Given the description of an element on the screen output the (x, y) to click on. 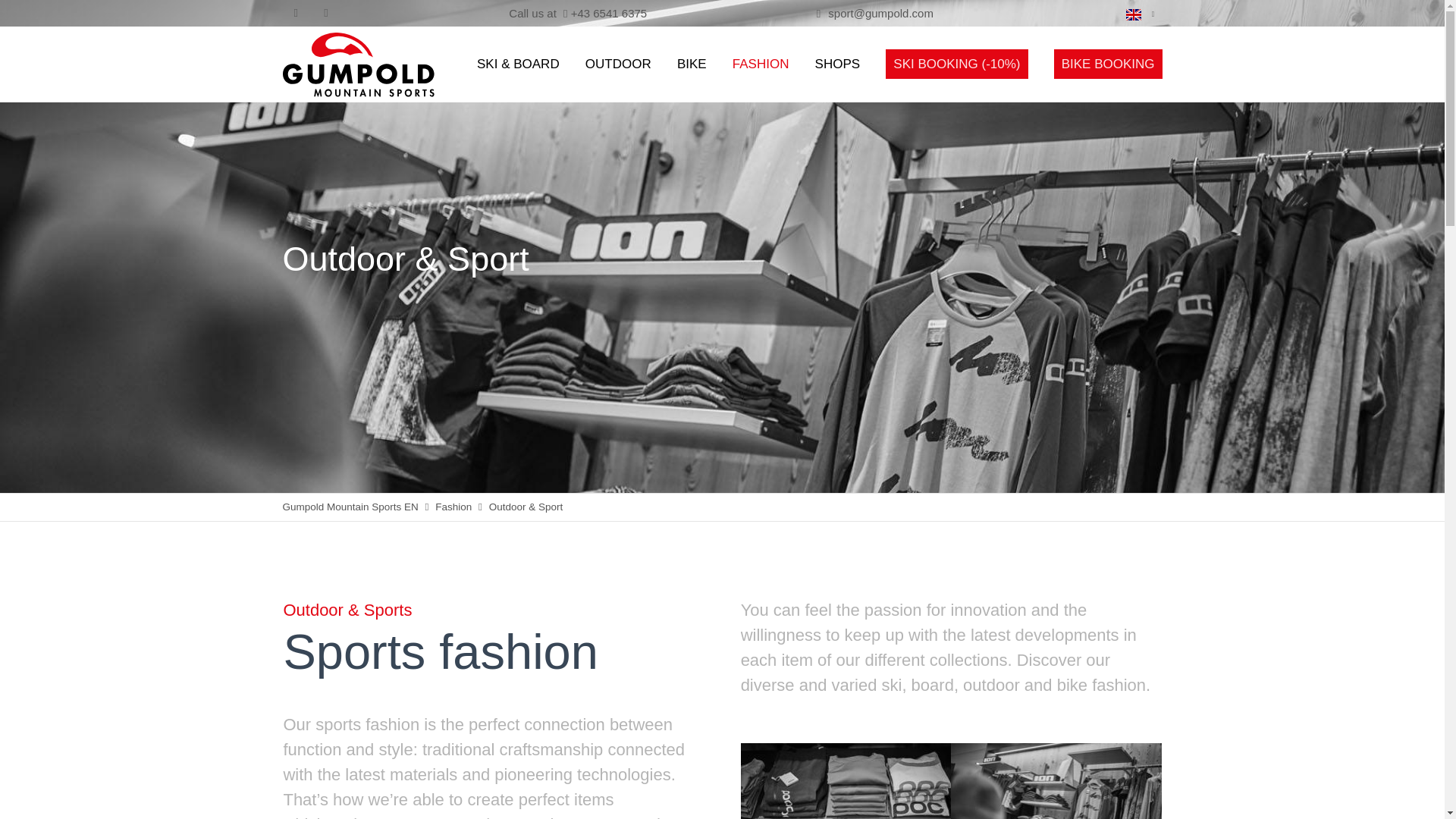
Fashion (453, 506)
BIKE BOOKING (1107, 64)
Gumpold Mountain Sports EN (349, 506)
